Given the description of an element on the screen output the (x, y) to click on. 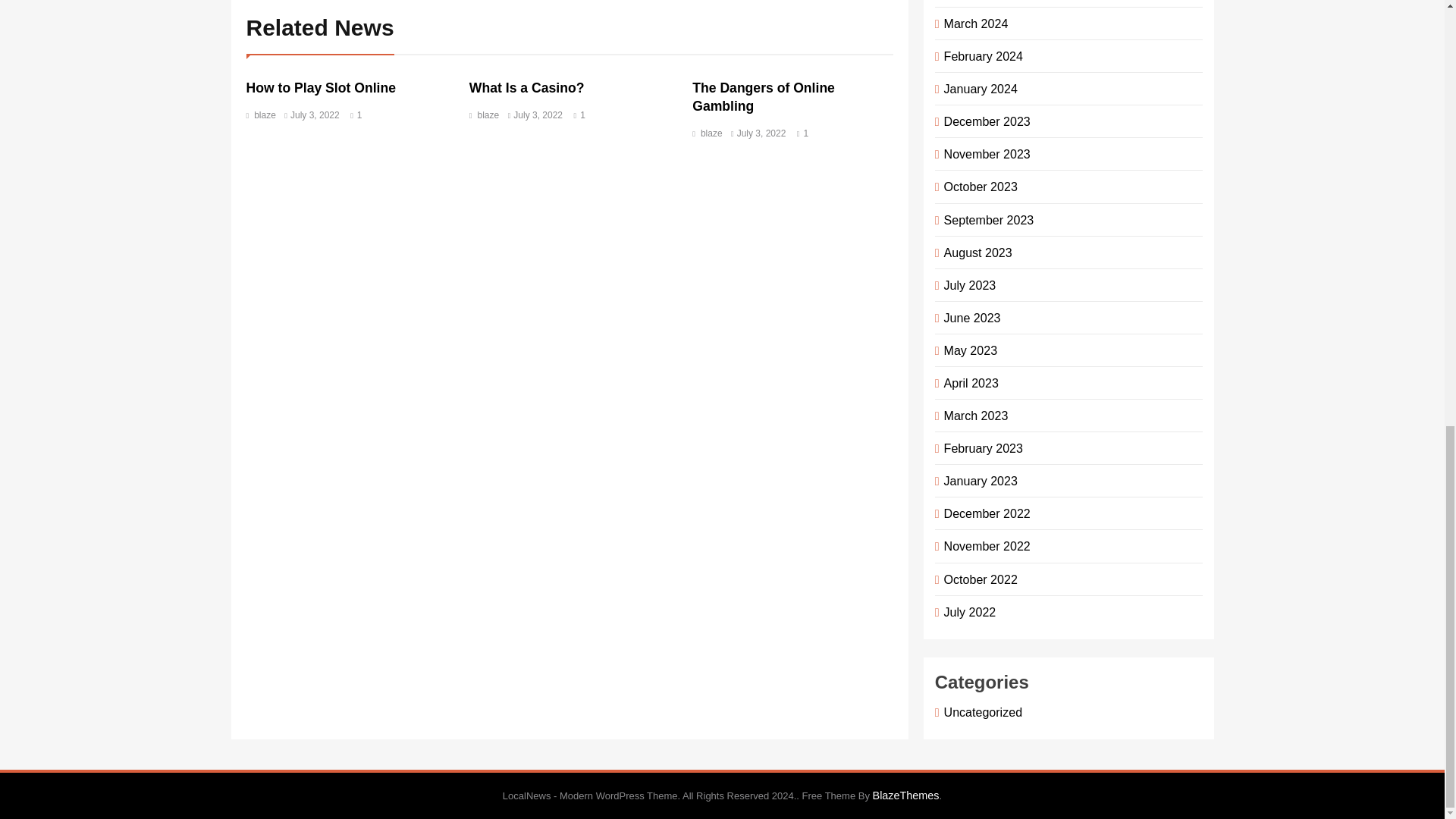
What Is a Casino? (526, 87)
March 2024 (972, 23)
How to Play Slot Online (320, 87)
January 2024 (978, 88)
February 2024 (980, 56)
The Dangers of Online Gambling (763, 96)
December 2023 (983, 120)
